Given the description of an element on the screen output the (x, y) to click on. 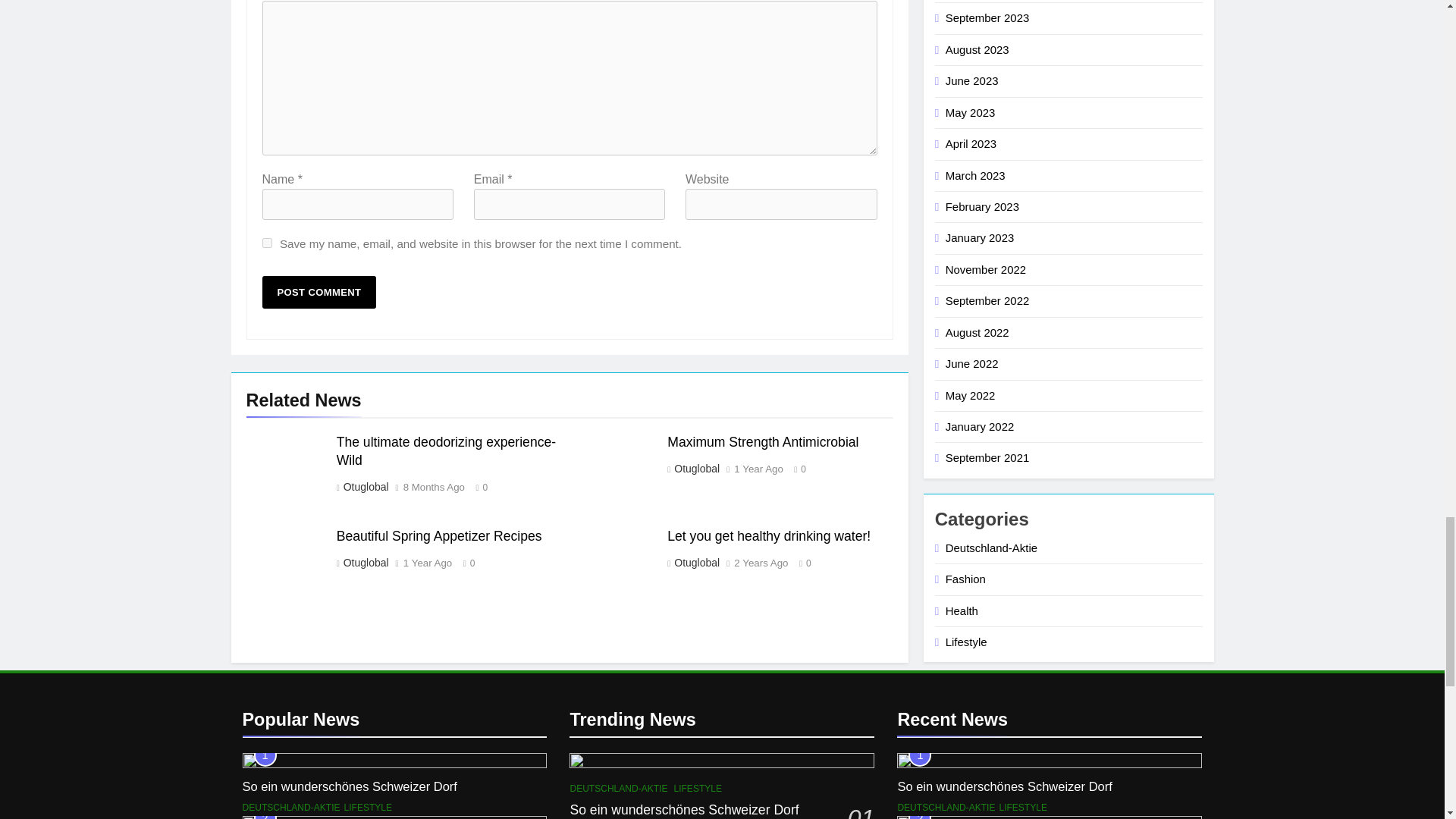
yes (267, 243)
Post Comment (319, 292)
